Given the description of an element on the screen output the (x, y) to click on. 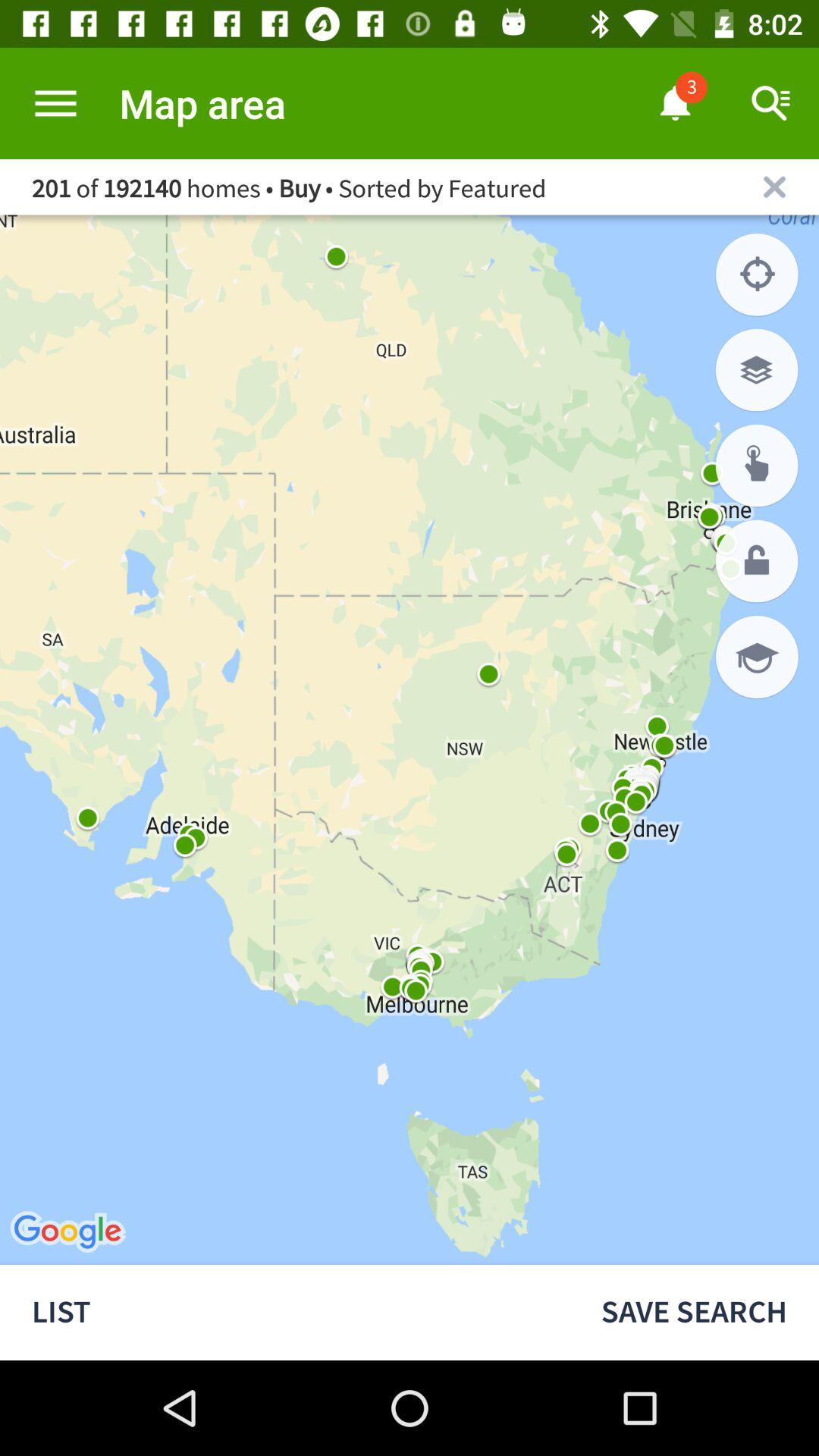
clickto menu option (55, 103)
